Given the description of an element on the screen output the (x, y) to click on. 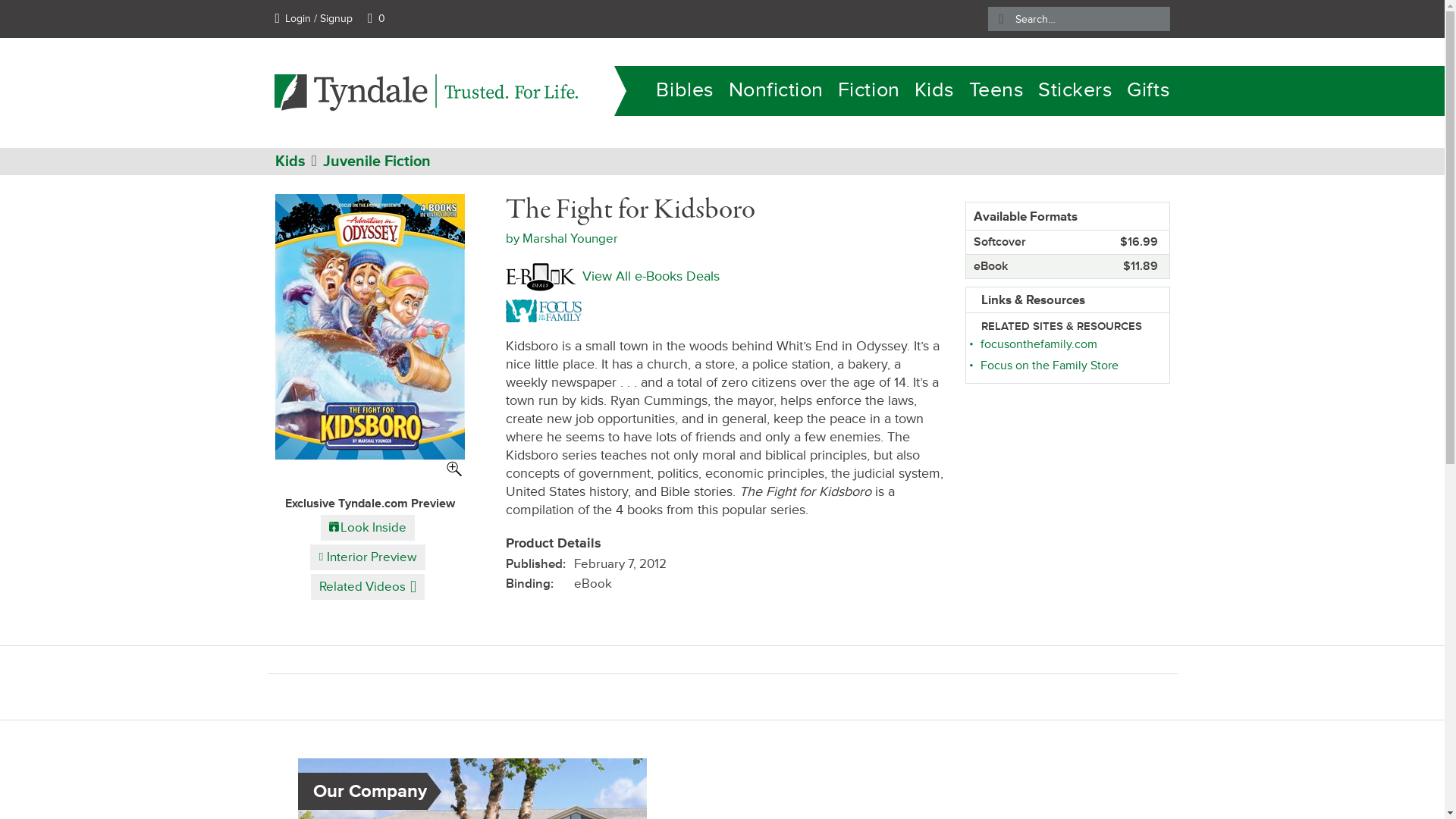
Bibles (684, 90)
Nonfiction (776, 90)
Focus On The Family (546, 309)
Login (313, 18)
View All e-Books Deals (612, 276)
Tyndale.com: Home (426, 91)
Tyndale.com (293, 153)
